Given the description of an element on the screen output the (x, y) to click on. 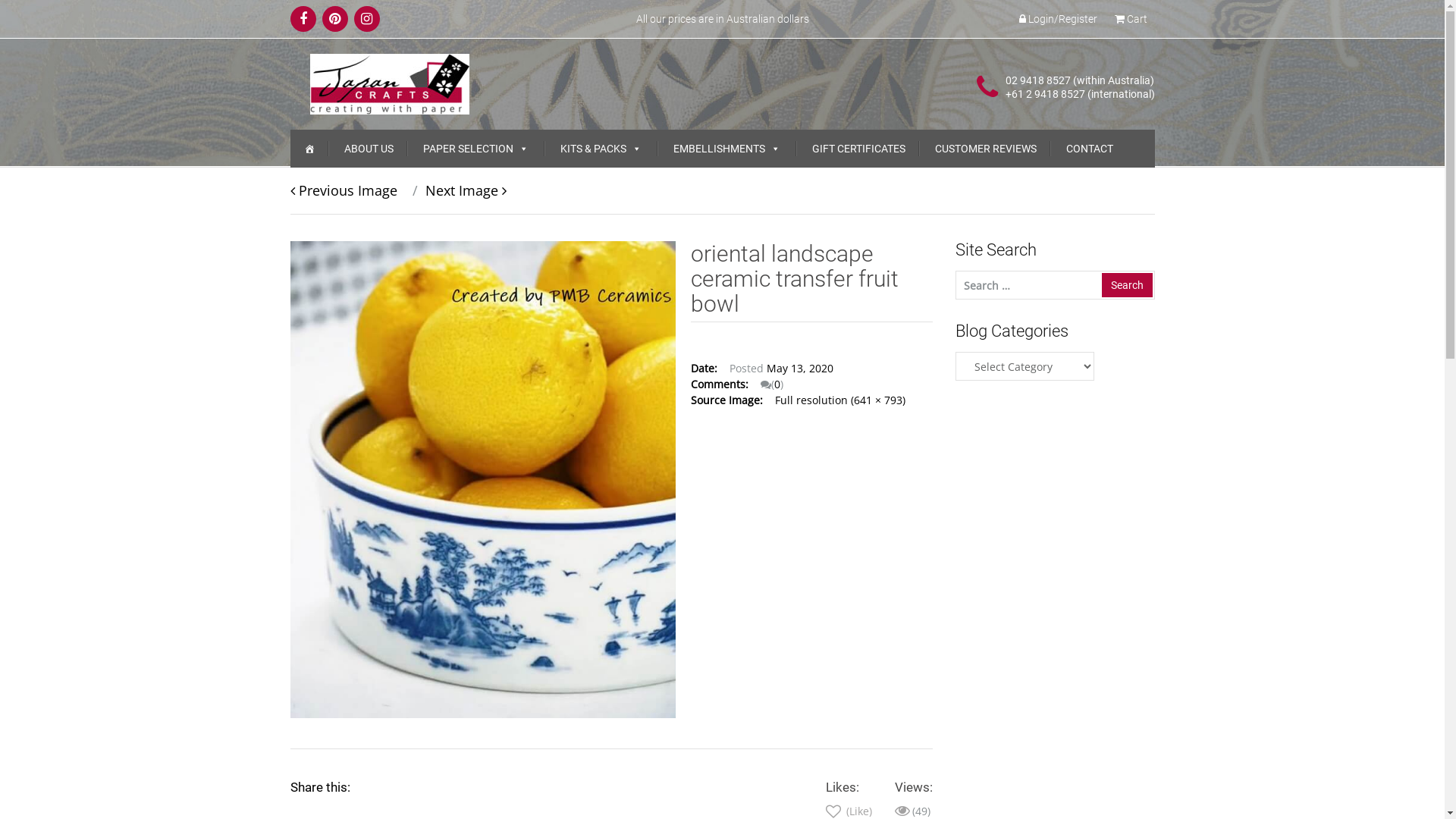
Skip to content Element type: text (302, 18)
Skip to content Element type: text (289, 128)
Search Element type: text (1126, 285)
0 Element type: text (777, 383)
CONTACT Element type: text (1089, 148)
Cart Element type: text (1130, 18)
Login/Register Element type: text (1058, 18)
KITS & PACKS Element type: text (600, 148)
ABOUT US Element type: text (368, 148)
Japan Crafts Element type: hover (389, 83)
GIFT CERTIFICATES Element type: text (857, 148)
Next Image Element type: text (452, 190)
PAPER SELECTION Element type: text (475, 148)
Previous Image Element type: text (342, 190)
EMBELLISHMENTS Element type: text (726, 148)
CUSTOMER REVIEWS Element type: text (984, 148)
